Given the description of an element on the screen output the (x, y) to click on. 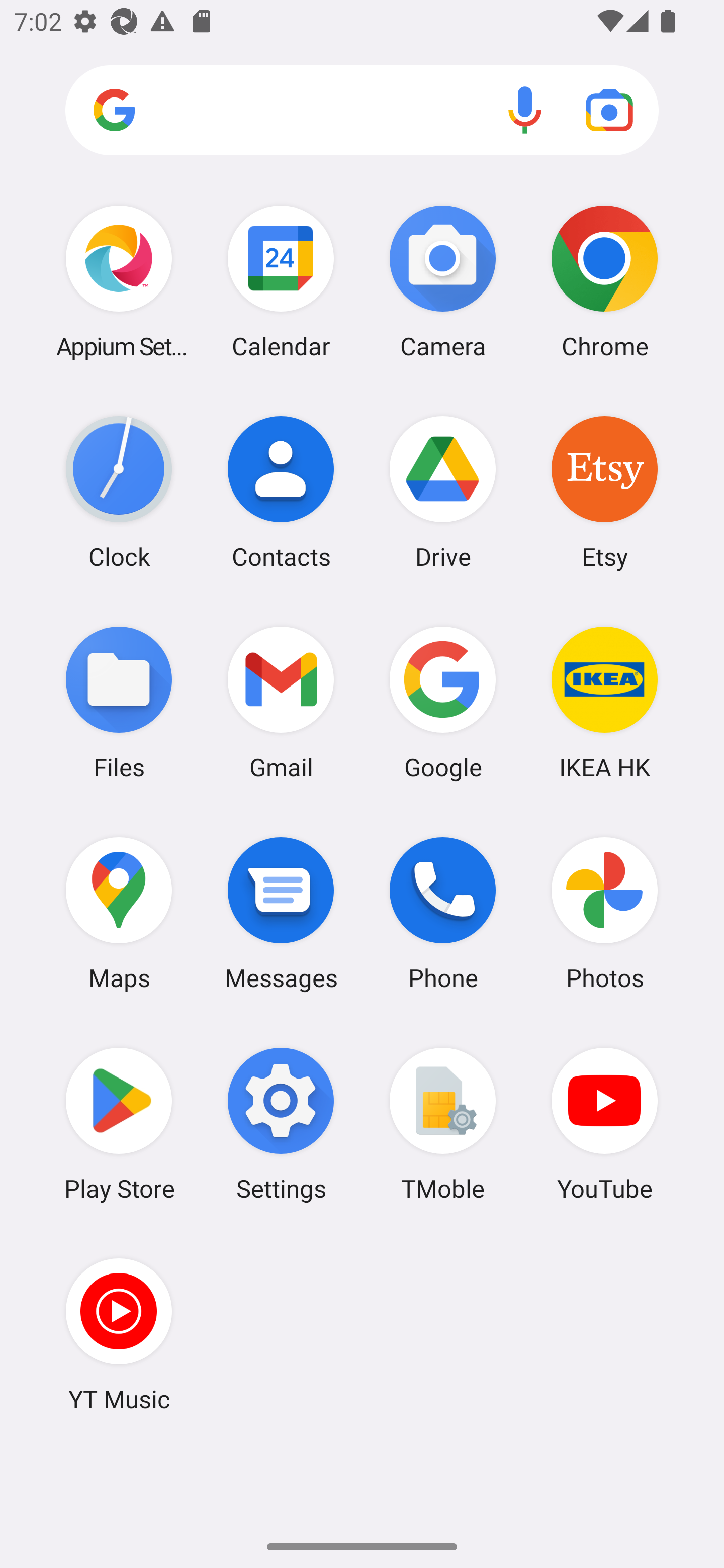
Search apps, web and more (361, 110)
Voice search (524, 109)
Google Lens (608, 109)
Appium Settings (118, 281)
Calendar (280, 281)
Camera (443, 281)
Chrome (604, 281)
Clock (118, 492)
Contacts (280, 492)
Drive (443, 492)
Etsy (604, 492)
Files (118, 702)
Gmail (280, 702)
Google (443, 702)
IKEA HK (604, 702)
Maps (118, 913)
Messages (280, 913)
Phone (443, 913)
Photos (604, 913)
Play Store (118, 1124)
Settings (280, 1124)
TMoble (443, 1124)
YouTube (604, 1124)
YT Music (118, 1334)
